Given the description of an element on the screen output the (x, y) to click on. 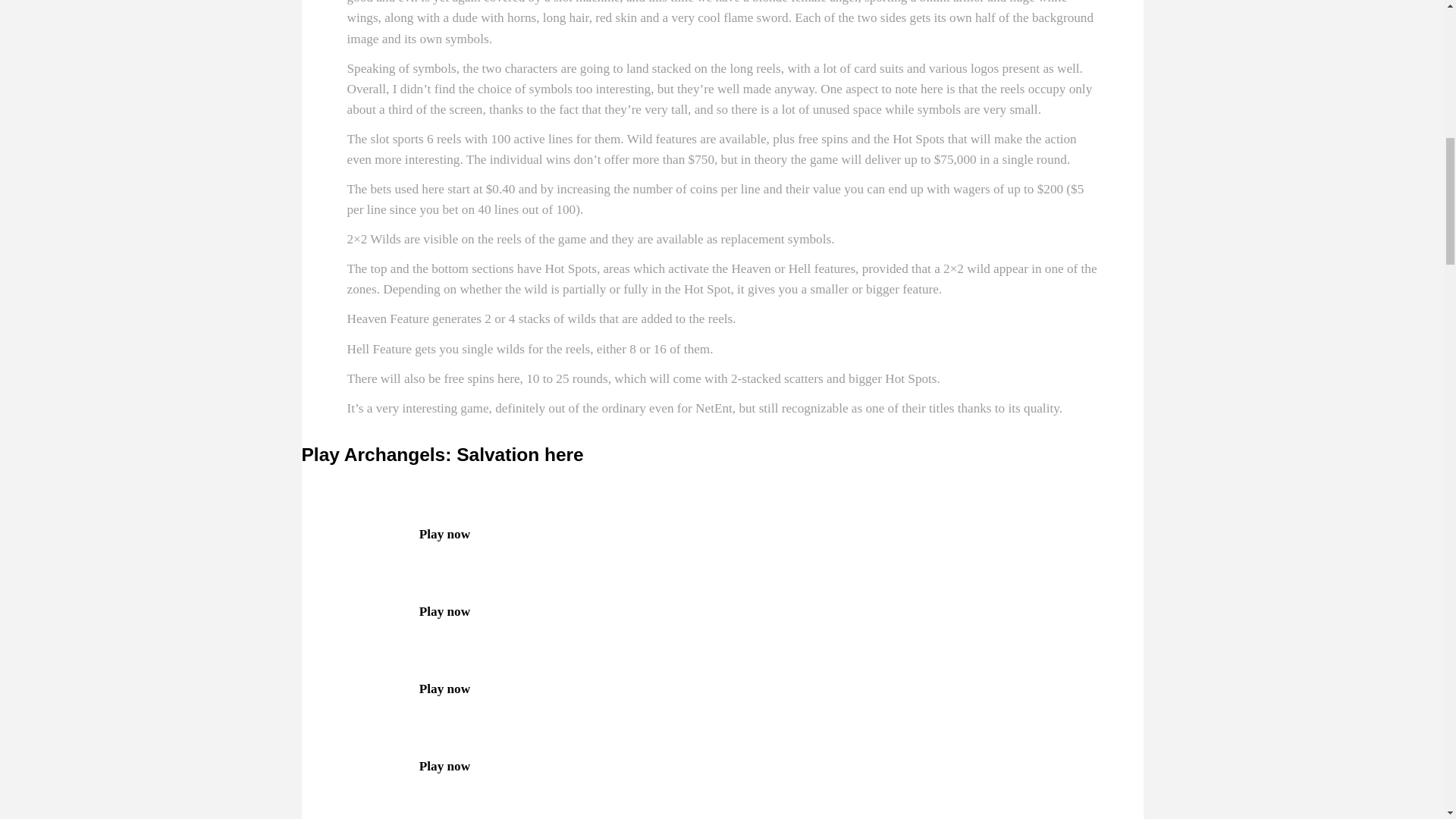
BitStarz (385, 534)
Play now (385, 688)
Play now (385, 534)
Play now (385, 766)
Casino RedKings (385, 766)
Mr Green (385, 688)
PlayOJO (385, 611)
Play now (385, 611)
